Given the description of an element on the screen output the (x, y) to click on. 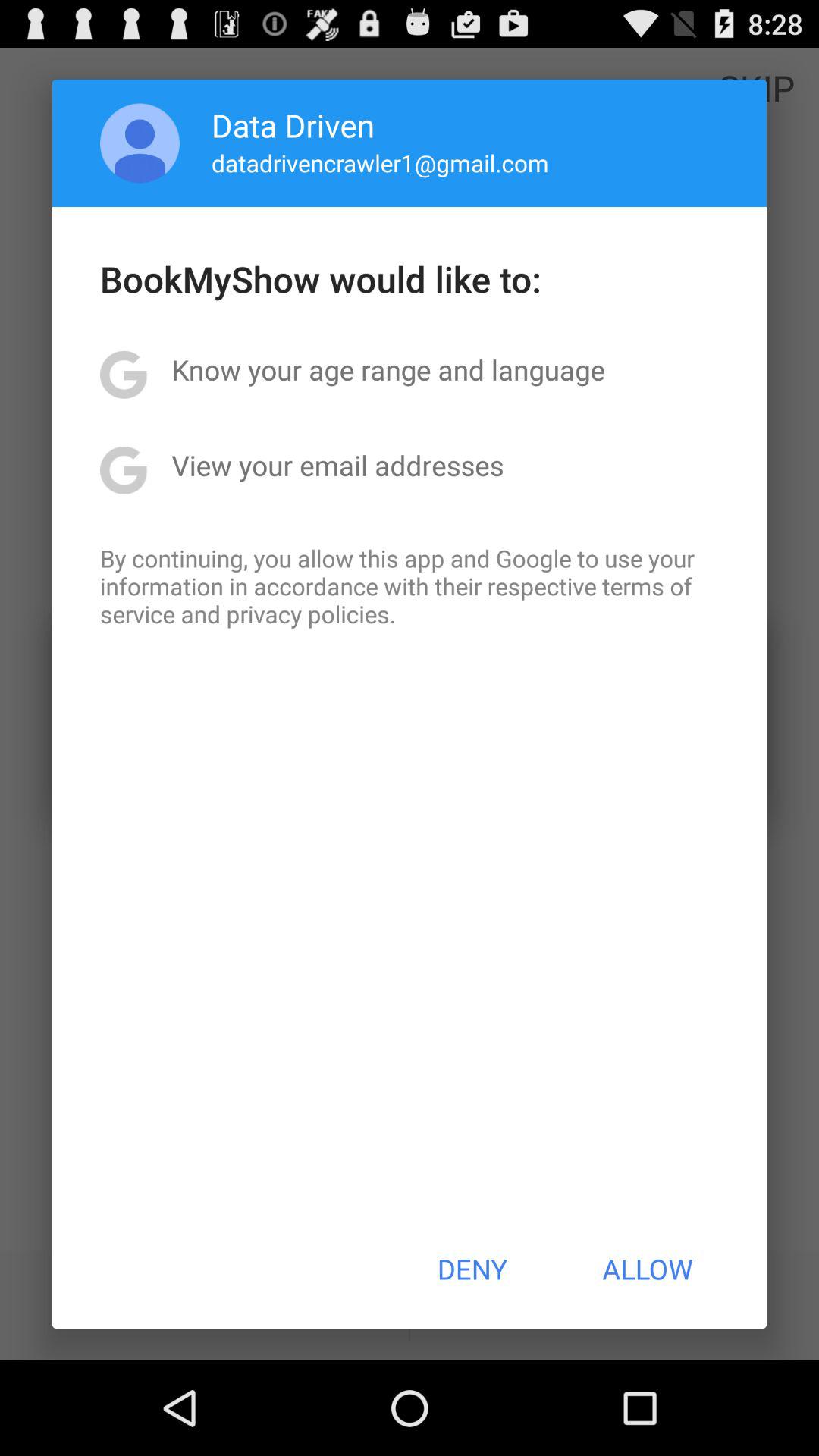
turn off the icon above the datadrivencrawler1@gmail.com item (292, 124)
